Given the description of an element on the screen output the (x, y) to click on. 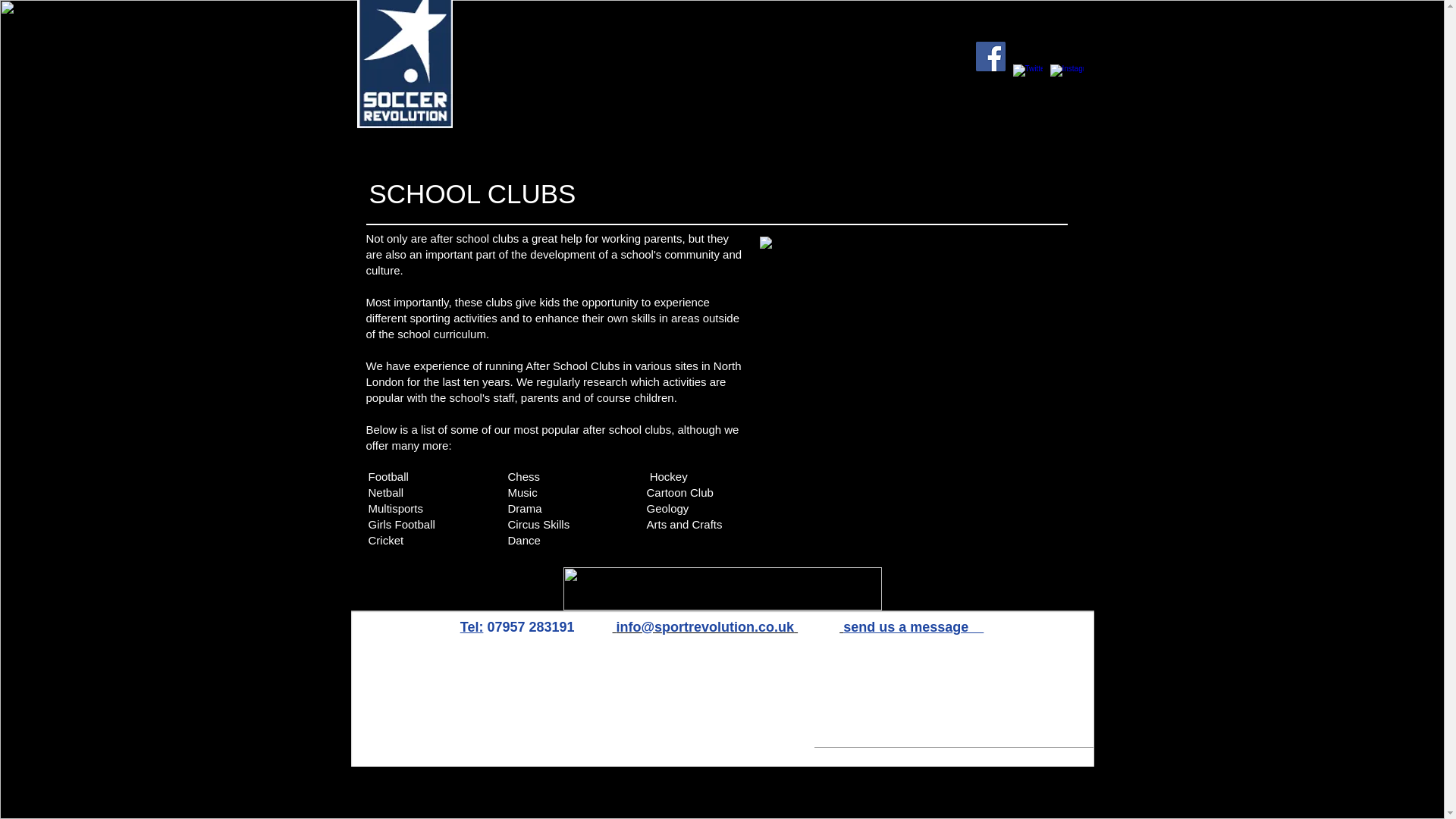
 send us a message     (912, 626)
Tel: (471, 626)
Merryhills (1035, 629)
Mobile-Loho-Header.png (400, 12)
